Given the description of an element on the screen output the (x, y) to click on. 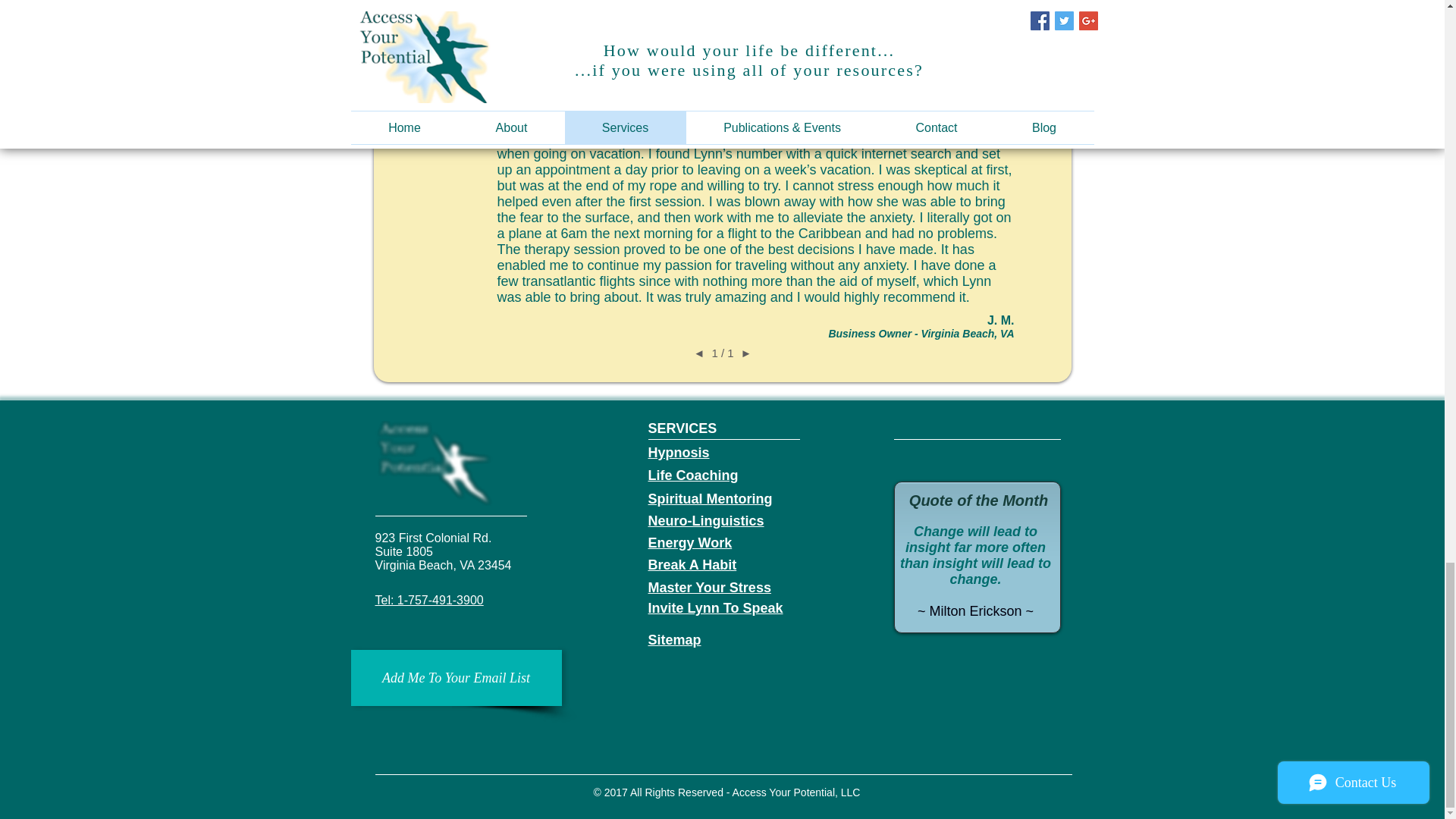
Hypnosis (678, 452)
Neuro-Linguistics (704, 520)
Master Your Stress (708, 587)
Spiritual Mentoring (709, 498)
Life Coaching (692, 475)
Energy Work (689, 542)
Break A Habit (691, 564)
Tel: 1-757-491-3900 (428, 599)
Invite Lynn To Speak (715, 607)
